Given the description of an element on the screen output the (x, y) to click on. 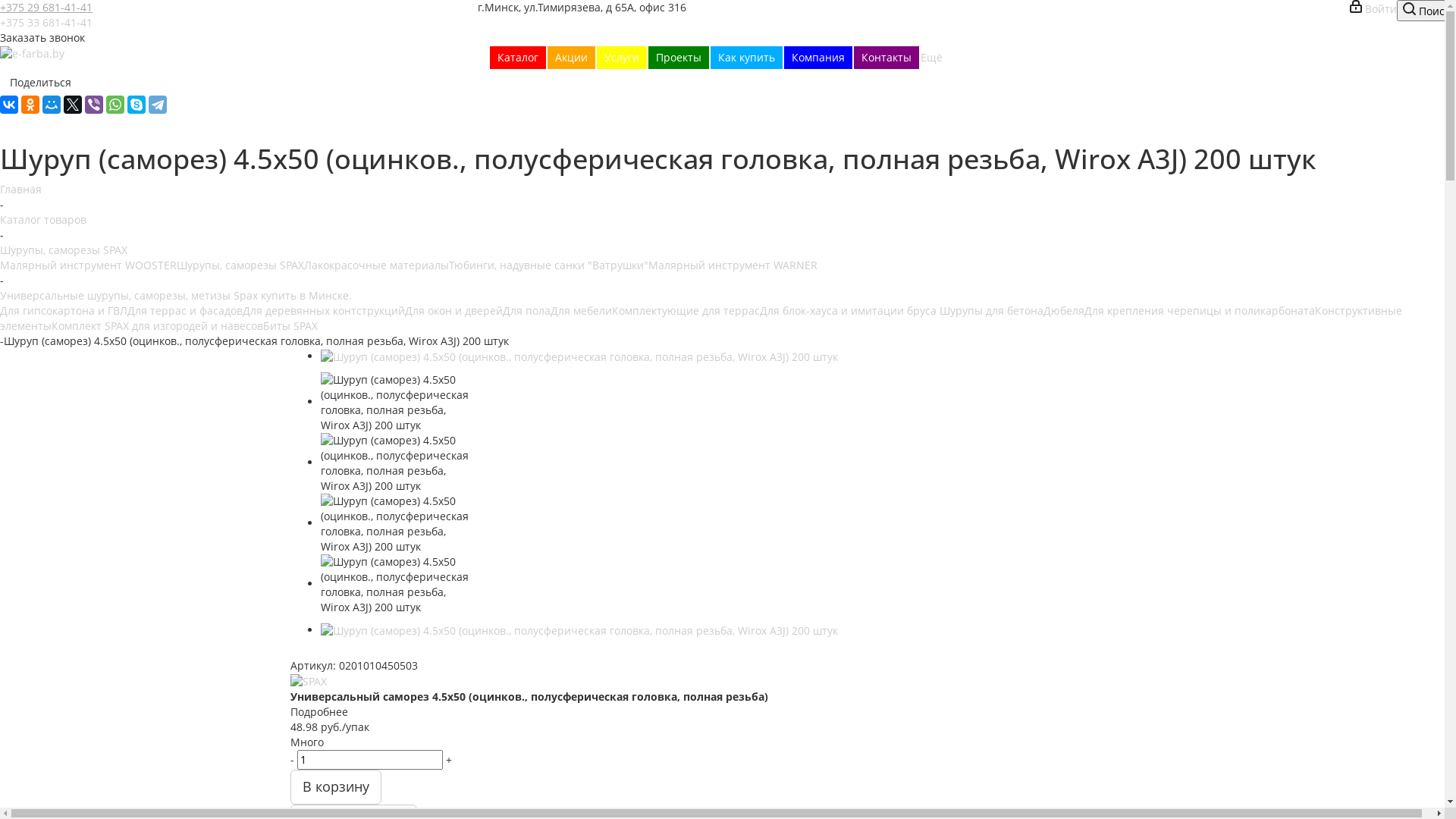
+375 33 681-41-41 Element type: text (46, 22)
e-farba.by Element type: hover (32, 53)
5 Element type: hover (354, 652)
2 Element type: hover (311, 652)
1 Element type: hover (296, 652)
WhatsApp Element type: hover (115, 104)
+375 29 681-41-41 Element type: text (46, 7)
Viber Element type: hover (93, 104)
Skype Element type: hover (136, 104)
3 Element type: hover (325, 652)
Telegram Element type: hover (157, 104)
 SPAX Element type: hover (307, 681)
Twitter Element type: hover (72, 104)
4 Element type: hover (340, 652)
